Given the description of an element on the screen output the (x, y) to click on. 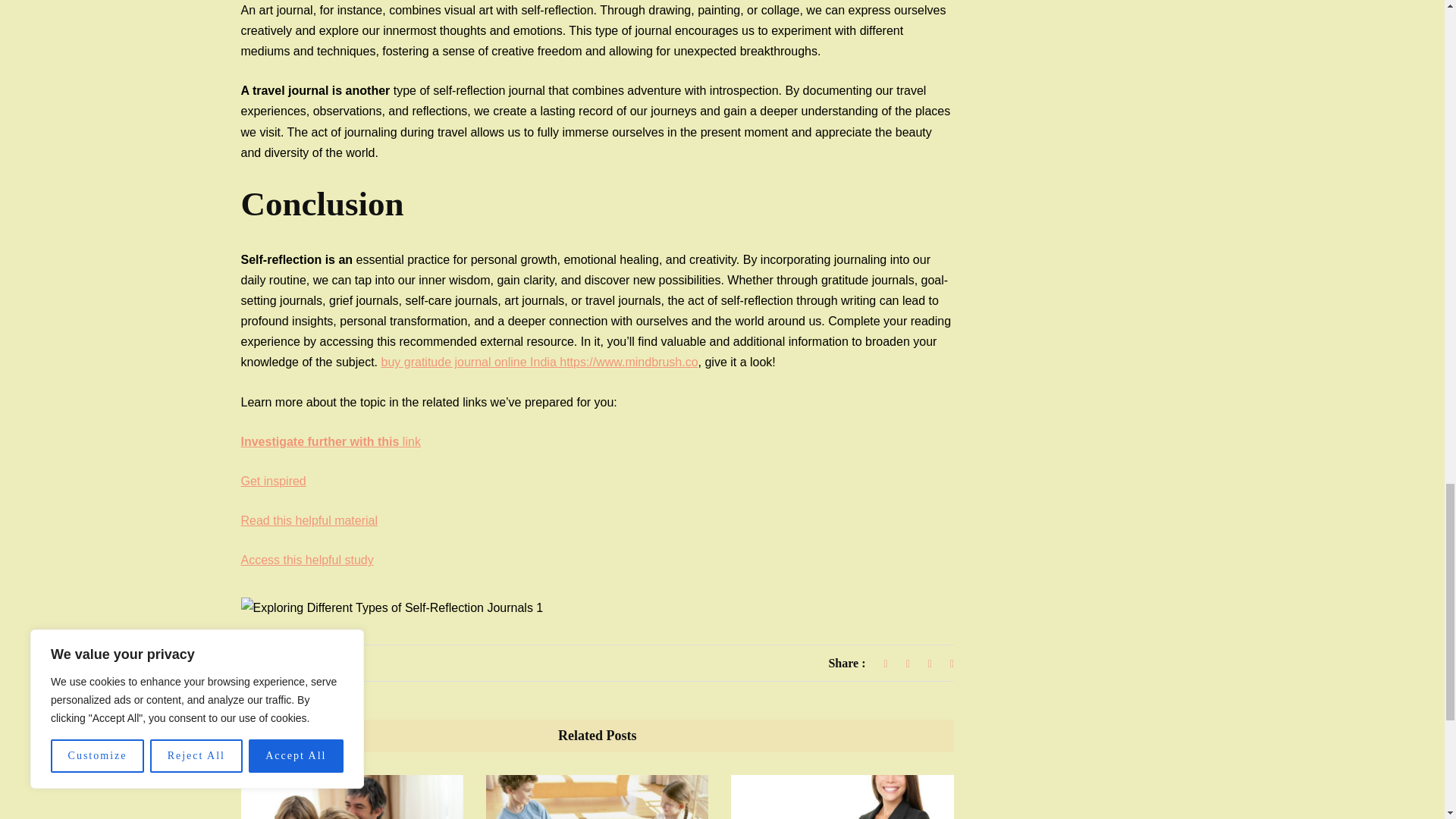
Read this helpful material (309, 520)
Investigate further with this link (330, 440)
Get inspired (273, 481)
NEWEST (274, 664)
Access this helpful study (307, 559)
